Given the description of an element on the screen output the (x, y) to click on. 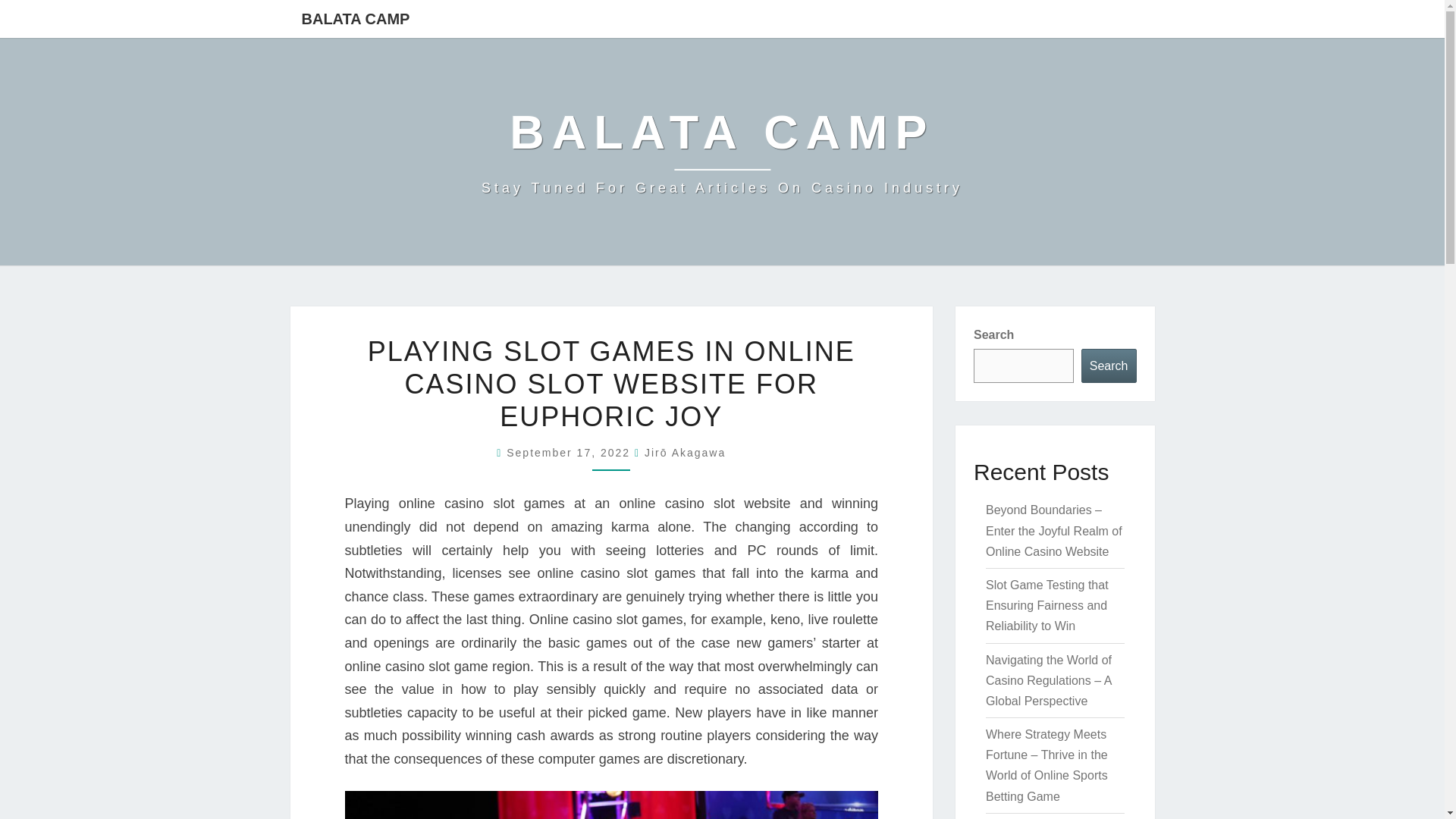
Balata Camp (721, 151)
7:35 am (570, 452)
September 17, 2022 (721, 151)
Search (570, 452)
BALATA CAMP (1109, 365)
